Given the description of an element on the screen output the (x, y) to click on. 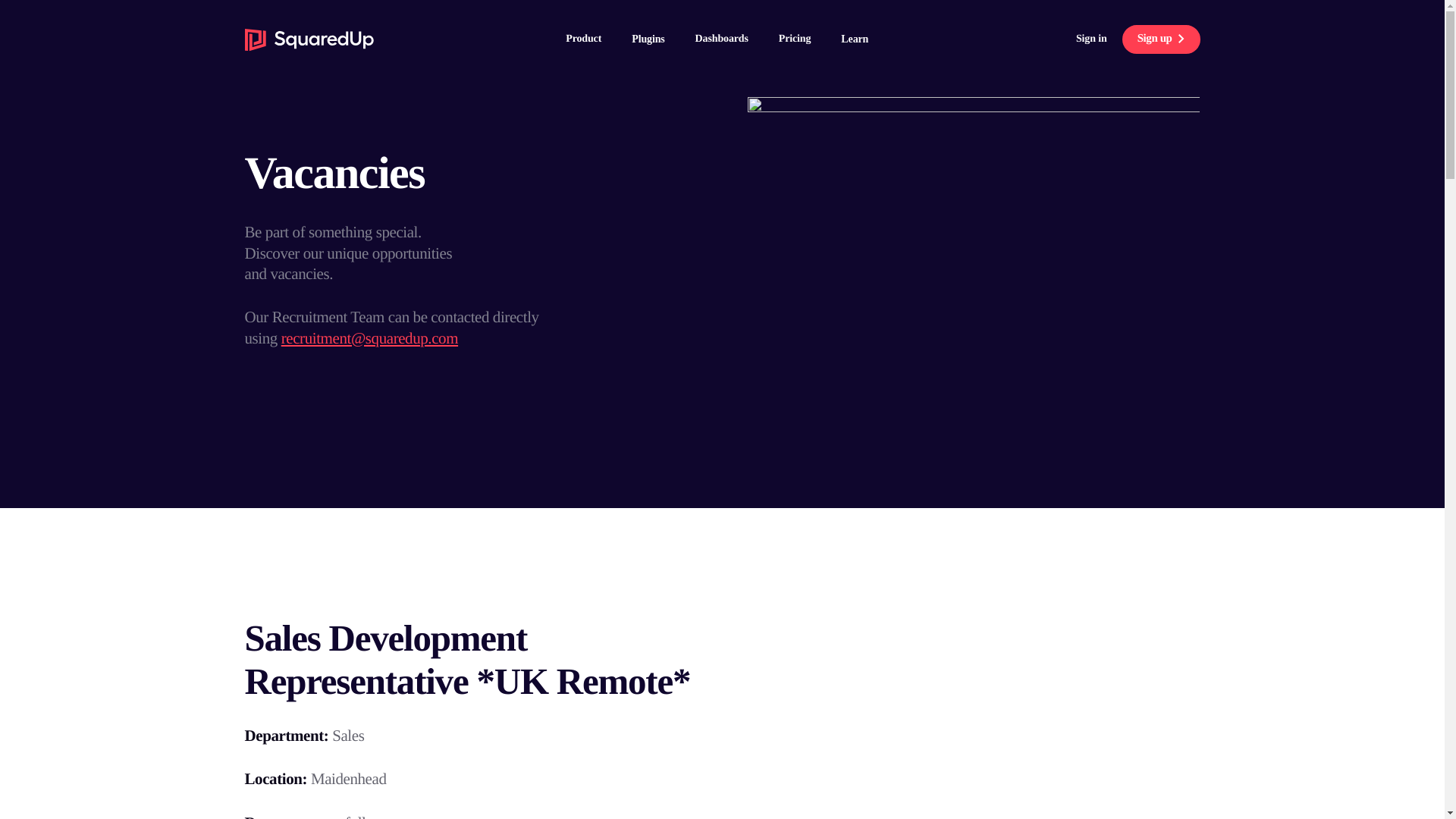
Sign in (1091, 39)
Learn (854, 39)
Plugins (647, 39)
Pricing (794, 39)
Sign up (1160, 39)
Dashboards (722, 39)
Product (583, 39)
